Given the description of an element on the screen output the (x, y) to click on. 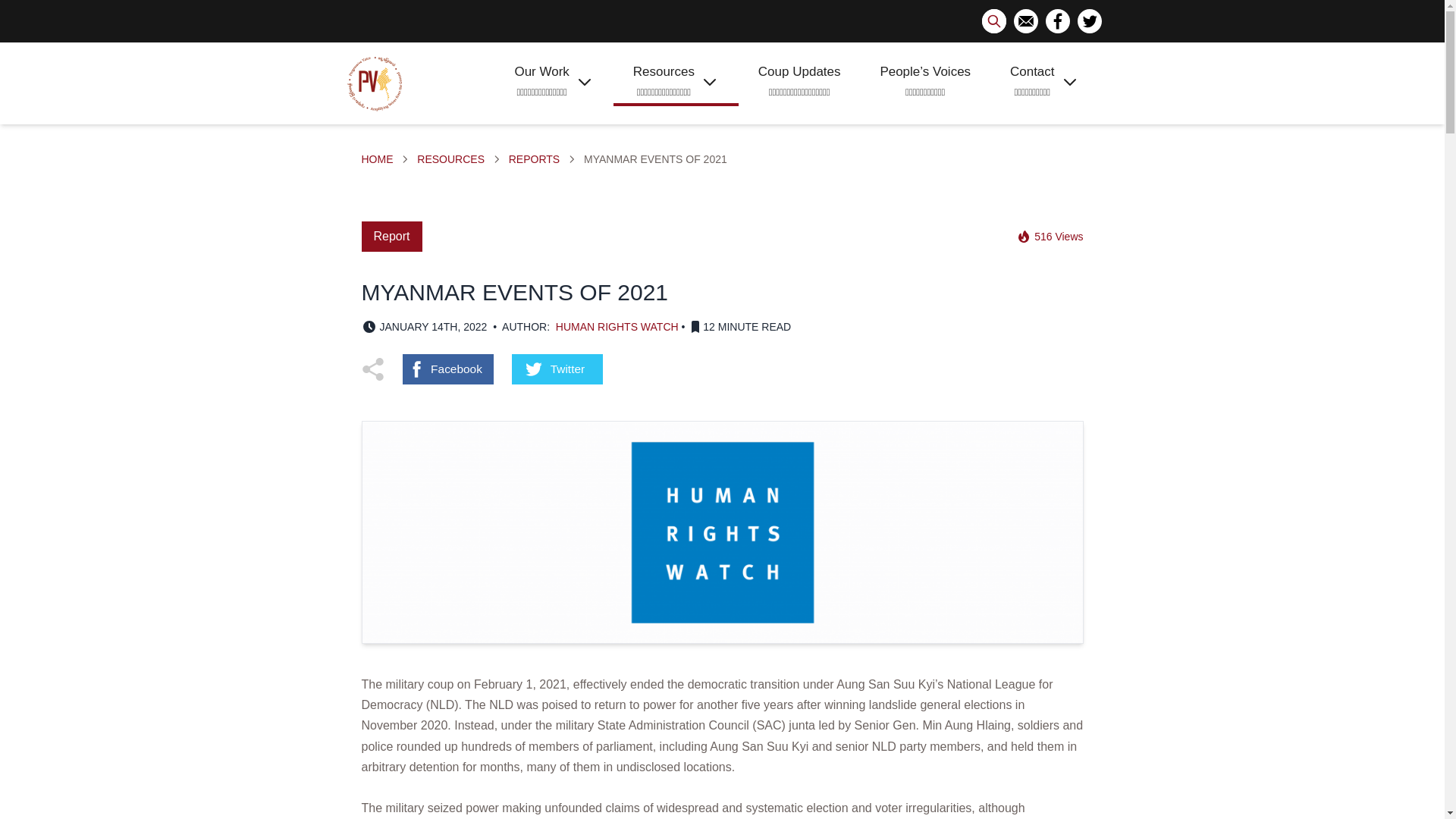
RESOURCES (450, 159)
Home (377, 159)
REPORTS (533, 159)
Share on Twitter (556, 368)
Reports (533, 159)
Join Progressive Voice on Facebook (1056, 21)
HOME (377, 159)
Share on Facebook (447, 368)
Email Progressive Voice (1024, 21)
Report (391, 236)
Follow Progressive Voice on Twitter (1088, 21)
Progressive Voice - Home Page (374, 83)
HUMAN RIGHTS WATCH (617, 326)
Resources (450, 159)
